Given the description of an element on the screen output the (x, y) to click on. 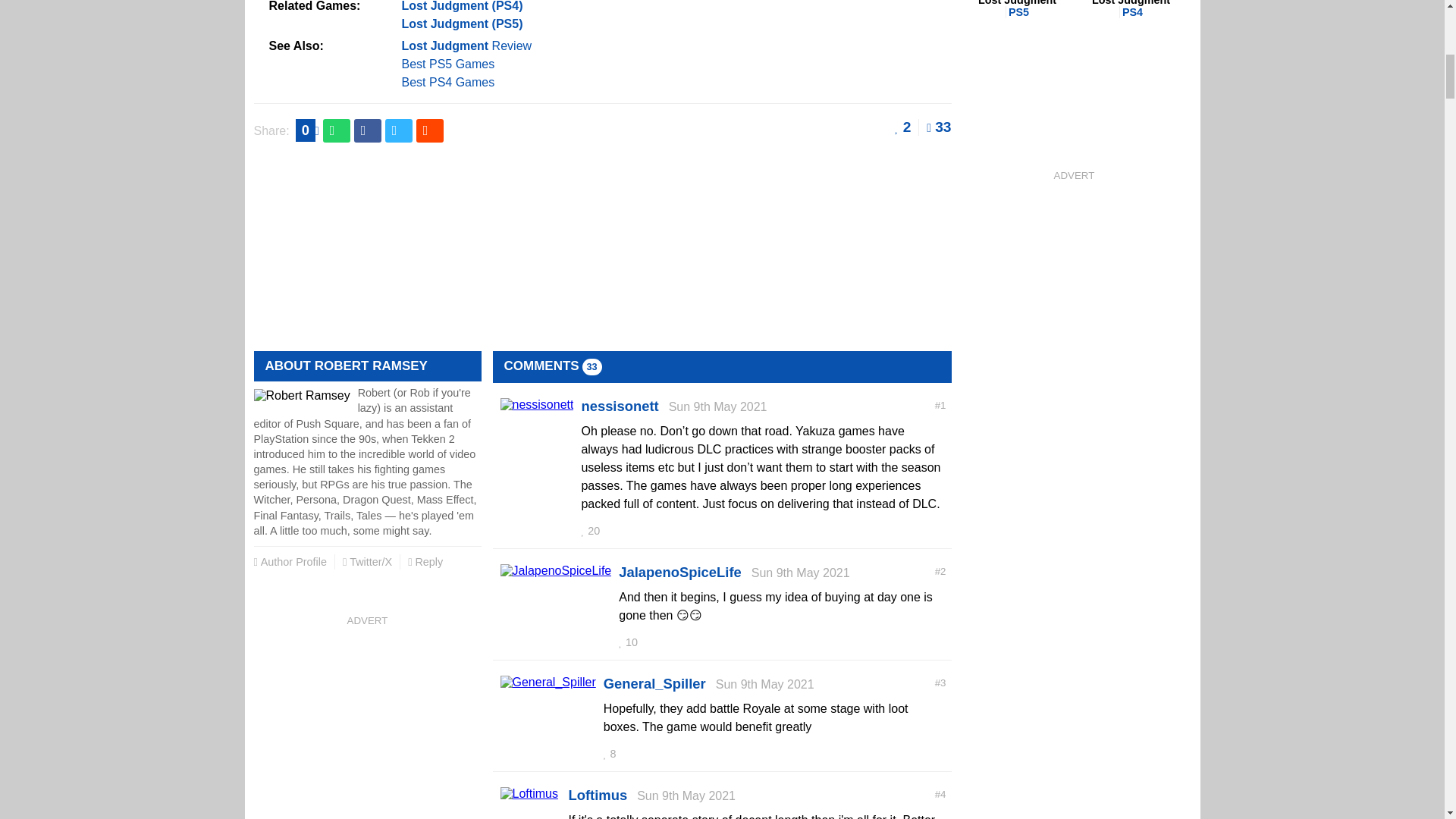
Share this on WhatsApp (336, 129)
